Given the description of an element on the screen output the (x, y) to click on. 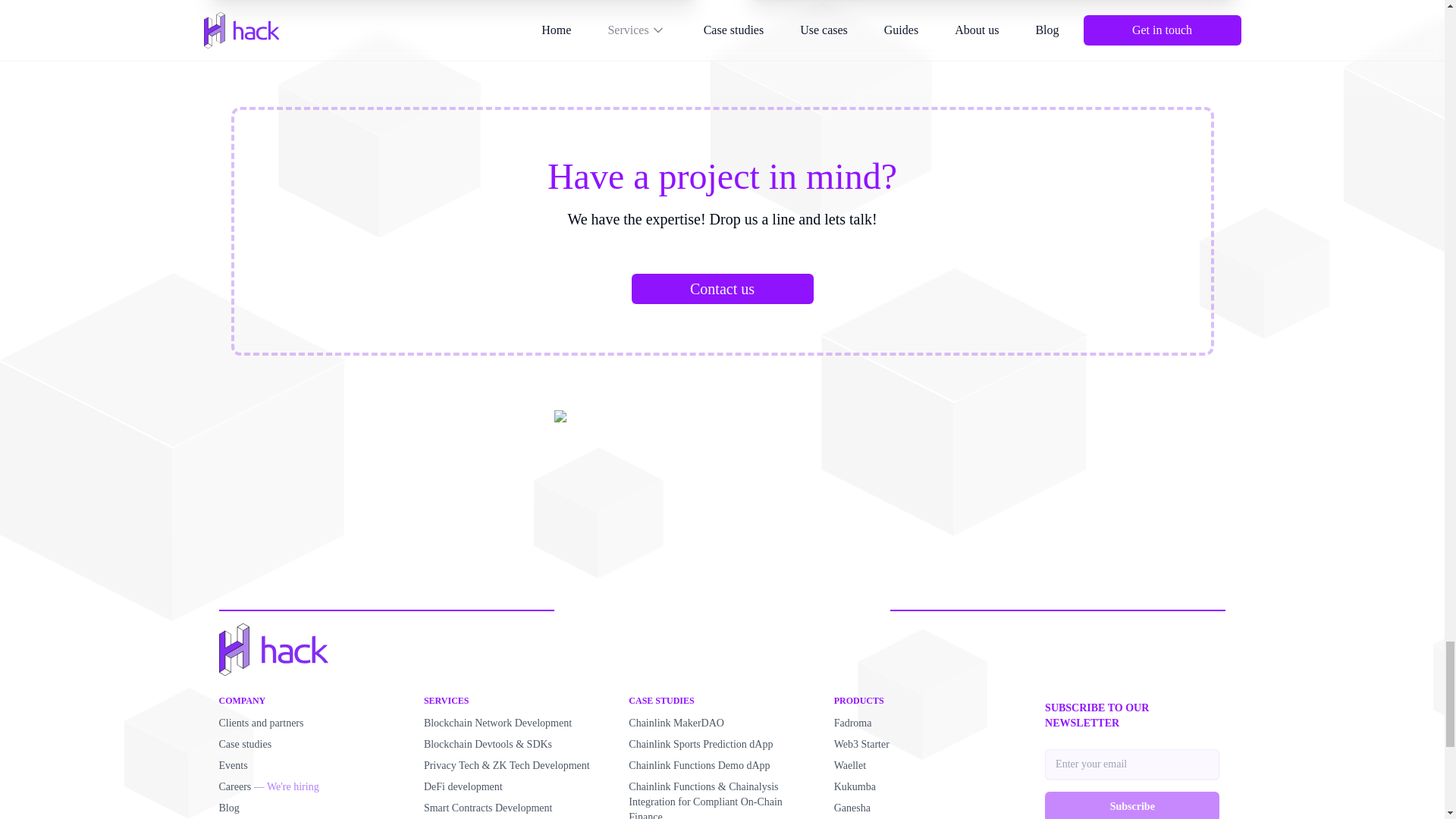
Careers (234, 786)
Contact us (721, 288)
Case studies (244, 744)
Blog (228, 807)
Blockchain Network Development (497, 723)
Clients and partners (260, 723)
Events (232, 765)
